Given the description of an element on the screen output the (x, y) to click on. 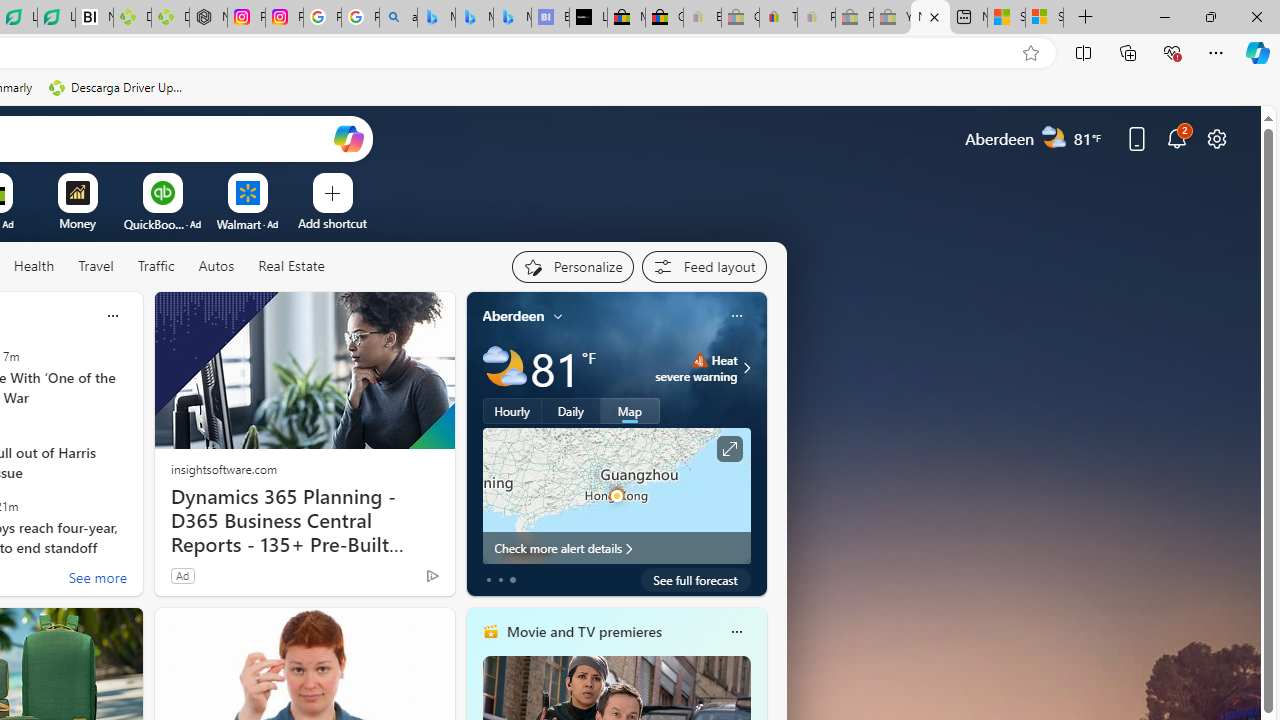
Movie and TV premieres (583, 631)
Feed settings (703, 266)
Microsoft Bing Travel - Shangri-La Hotel Bangkok (512, 17)
Shanghai, China hourly forecast | Microsoft Weather (1006, 17)
This story is trending (393, 579)
Click to see more information (728, 449)
insightsoftware.com (223, 468)
